Given the description of an element on the screen output the (x, y) to click on. 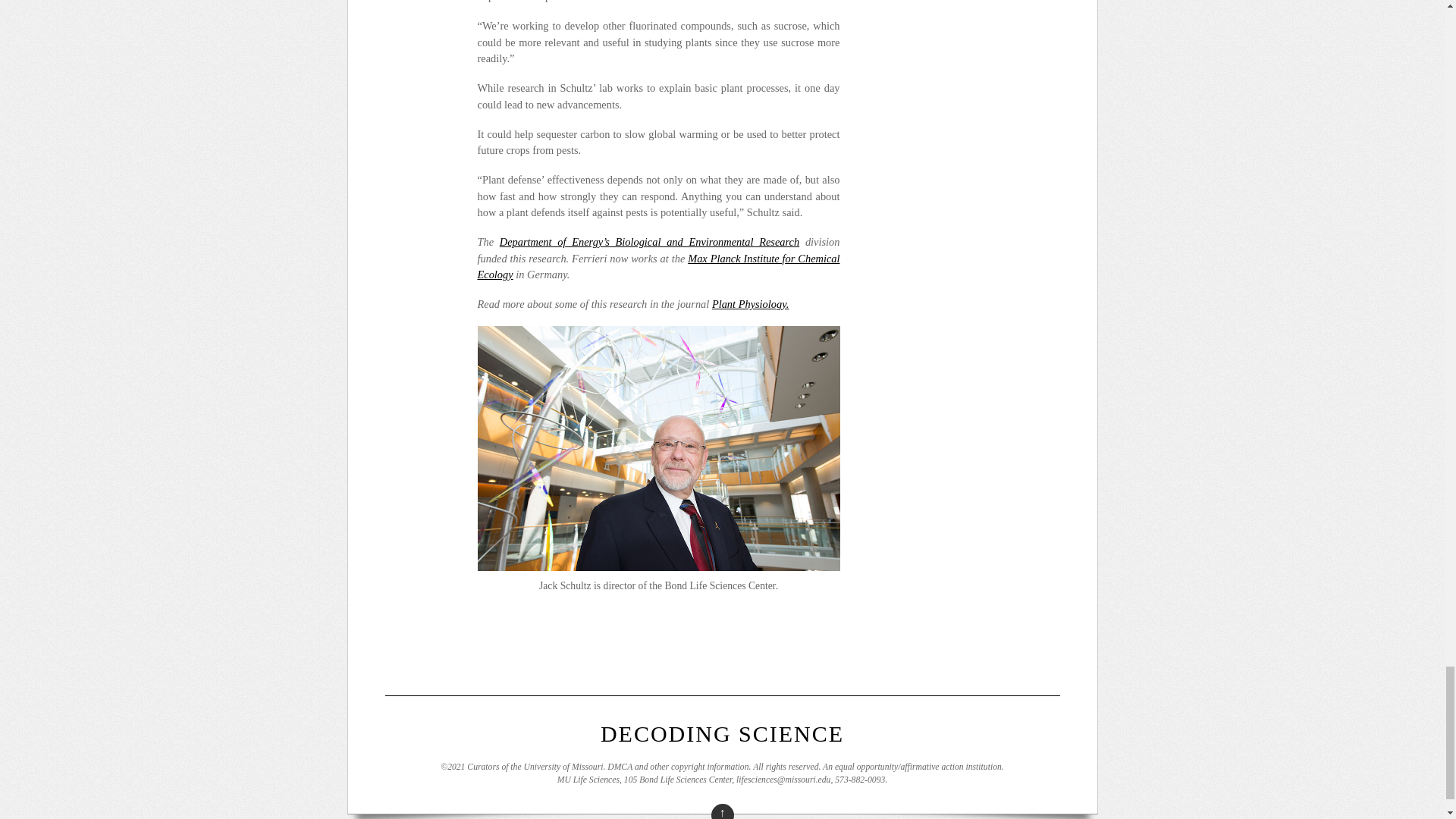
Decoding Science (721, 733)
Max Planck Institute for Chemical Ecology (658, 266)
Plant Physiology. (750, 304)
Max Planck Institute for Chemical Ecology (658, 266)
